Given the description of an element on the screen output the (x, y) to click on. 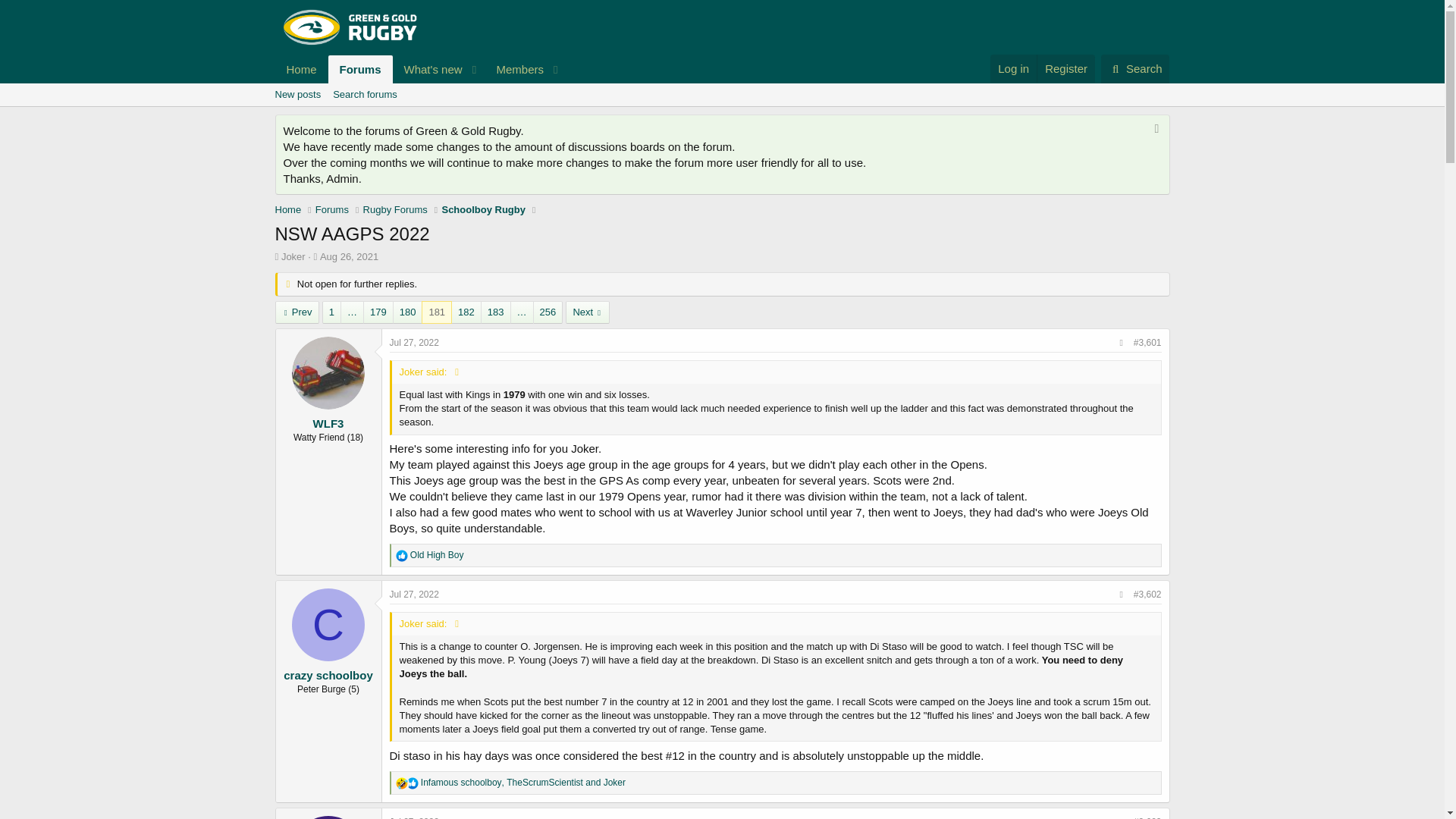
Search (1135, 68)
Go to page (351, 312)
Joker (293, 256)
Members (514, 69)
Forums (361, 69)
Home (301, 69)
Rugby Forums (395, 209)
Old High Boy (328, 817)
Schoolboy Rugby (483, 209)
Prev (296, 312)
Log in (1013, 68)
179 (378, 312)
Jul 27, 2022 at 2:19 PM (414, 817)
New posts (296, 94)
Like (412, 783)
